Given the description of an element on the screen output the (x, y) to click on. 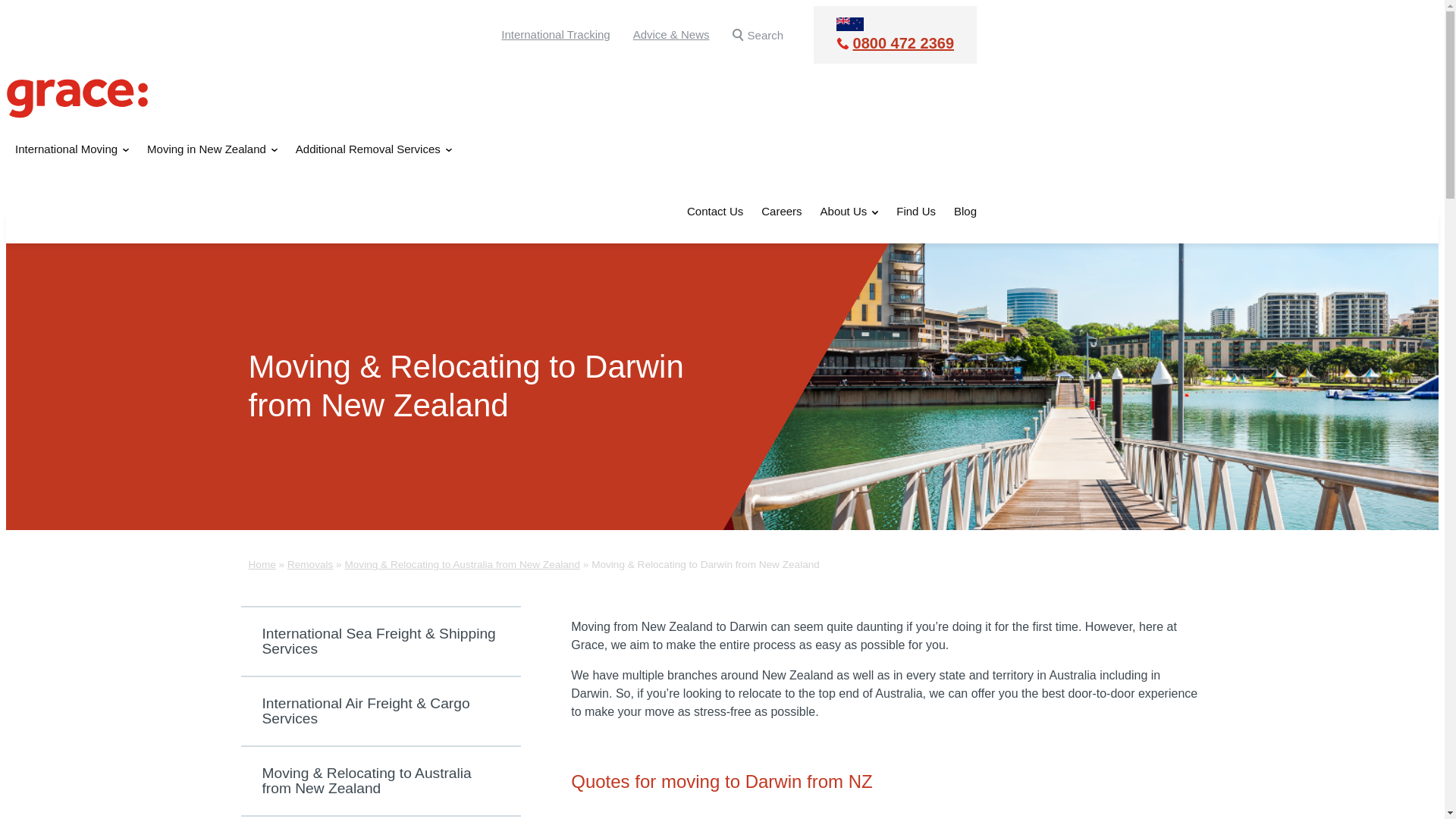
International Tracking (555, 33)
Moving in New Zealand (212, 149)
International Moving (71, 149)
Additional Removal Services (373, 149)
0800 472 2369 (894, 43)
